Given the description of an element on the screen output the (x, y) to click on. 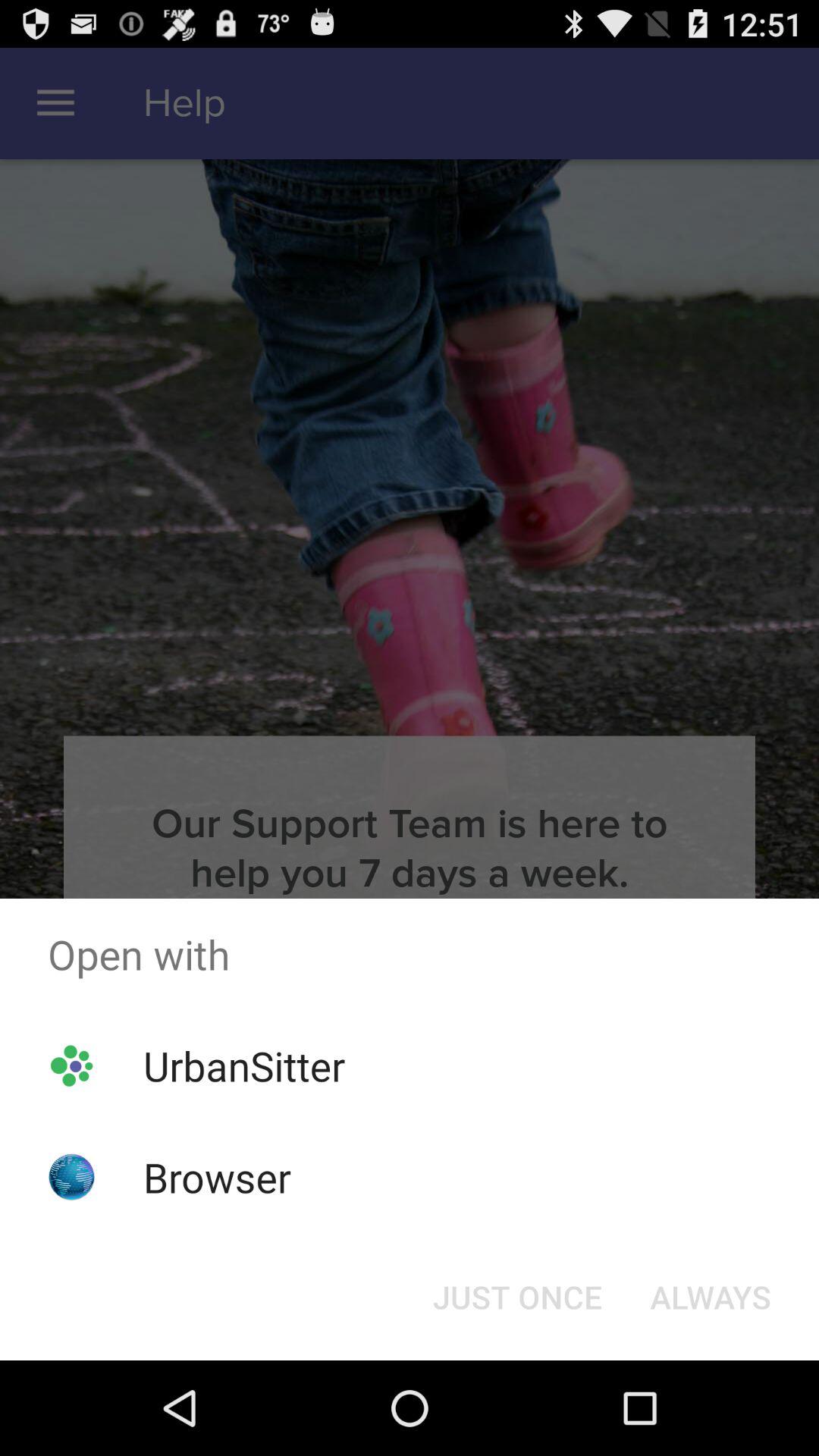
select the icon below open with item (710, 1296)
